Given the description of an element on the screen output the (x, y) to click on. 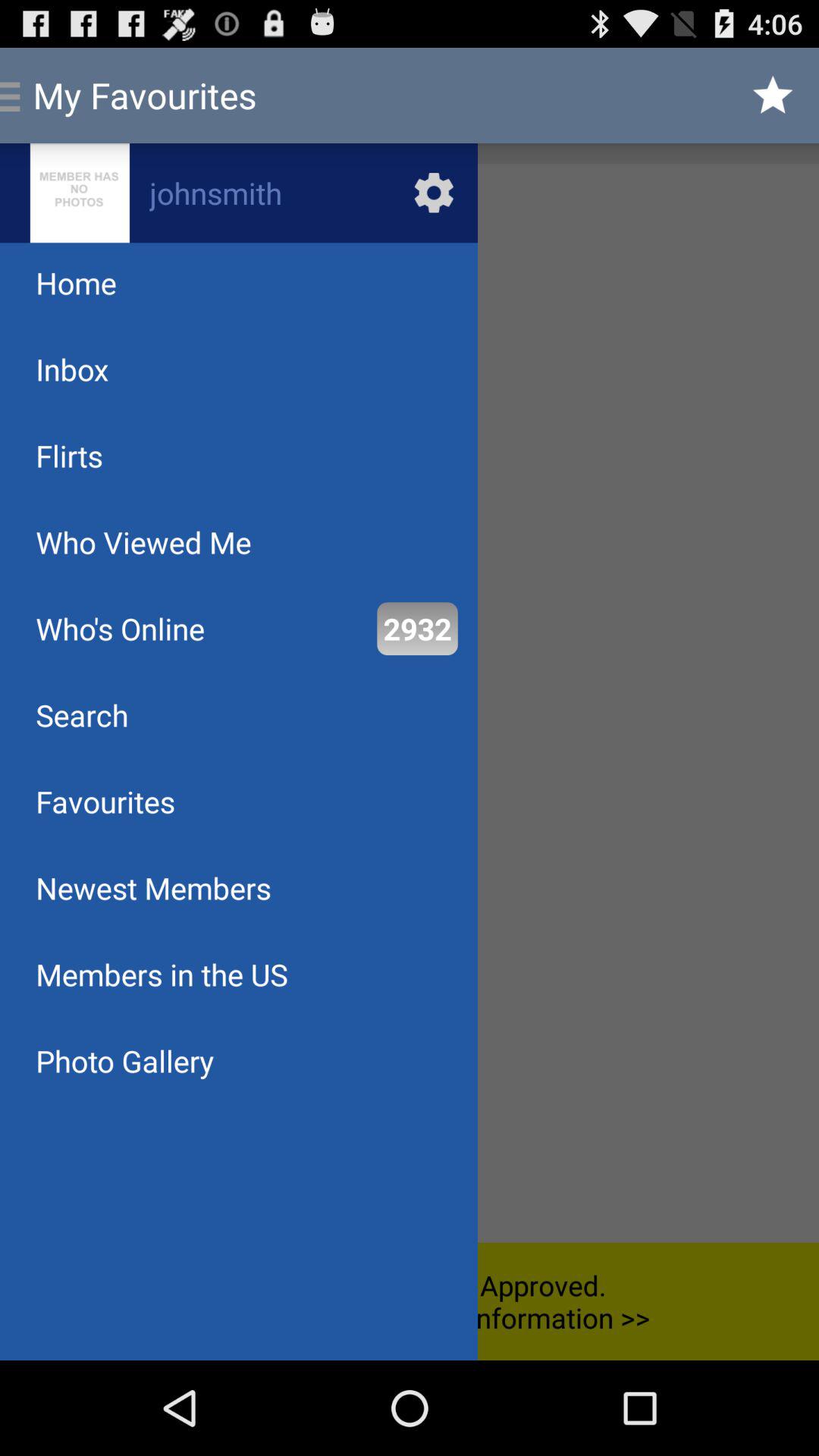
go to setting (238, 192)
